Given the description of an element on the screen output the (x, y) to click on. 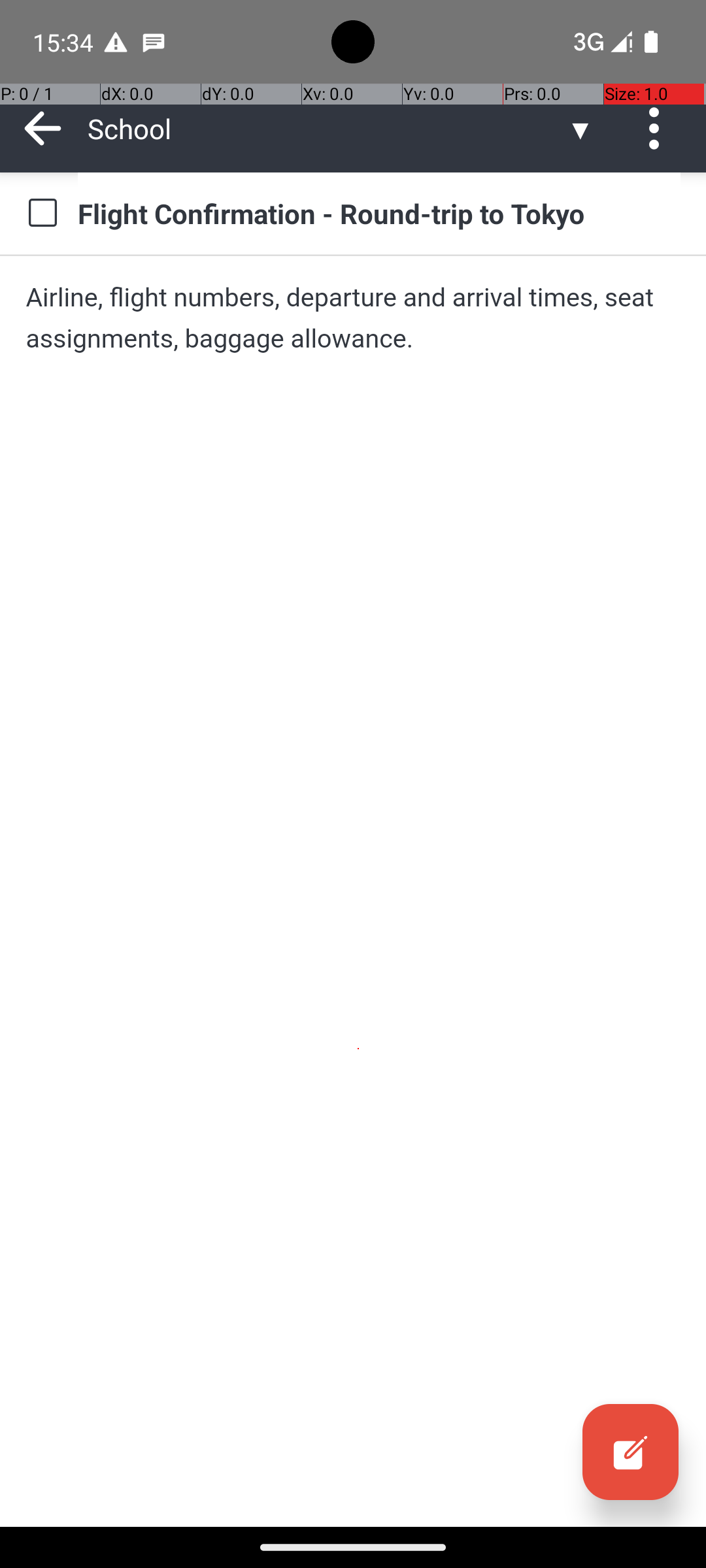
Flight Confirmation - Round-trip to Tokyo Element type: android.widget.EditText (378, 213)
Edit, collapsed Element type: android.widget.Button (630, 1452)
School Element type: android.widget.TextView (326, 128)
 Element type: android.widget.TextView (630, 1451)
Airline, flight numbers, departure and arrival times, seat assignments, baggage allowance. Element type: android.widget.TextView (352, 317)
